Given the description of an element on the screen output the (x, y) to click on. 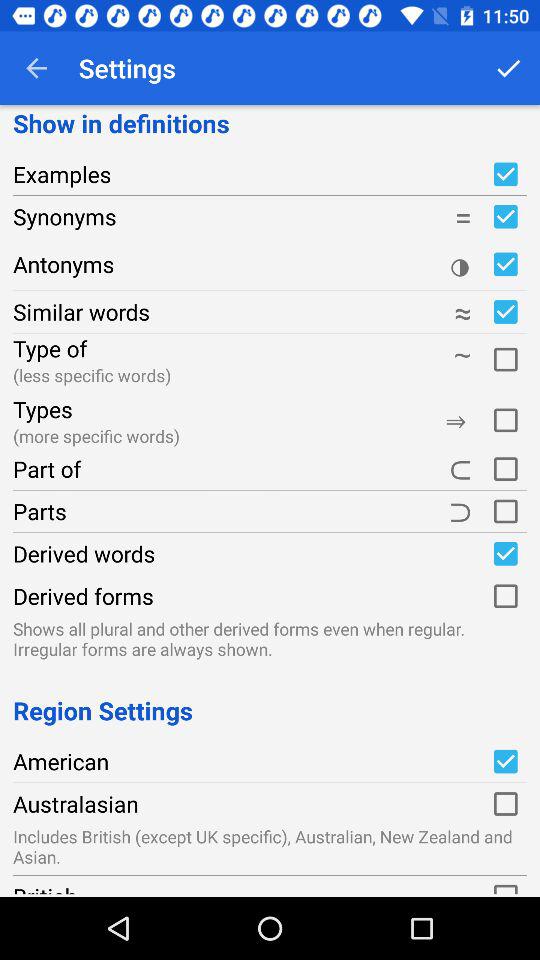
select the app next to the settings icon (36, 68)
